Given the description of an element on the screen output the (x, y) to click on. 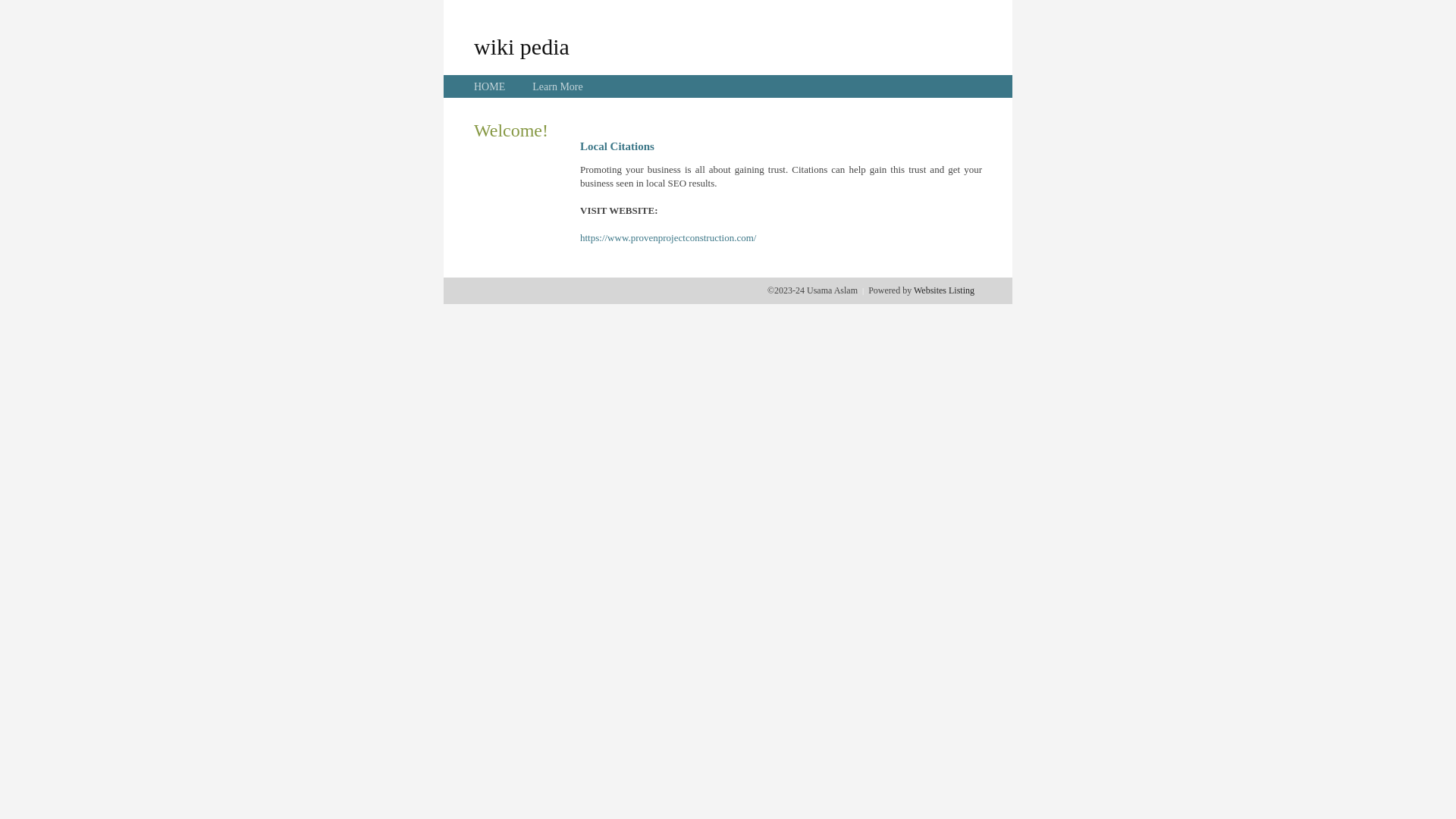
Websites Listing Element type: text (943, 290)
Learn More Element type: text (557, 86)
https://www.provenprojectconstruction.com/ Element type: text (668, 237)
HOME Element type: text (489, 86)
wiki pedia Element type: text (521, 46)
